Given the description of an element on the screen output the (x, y) to click on. 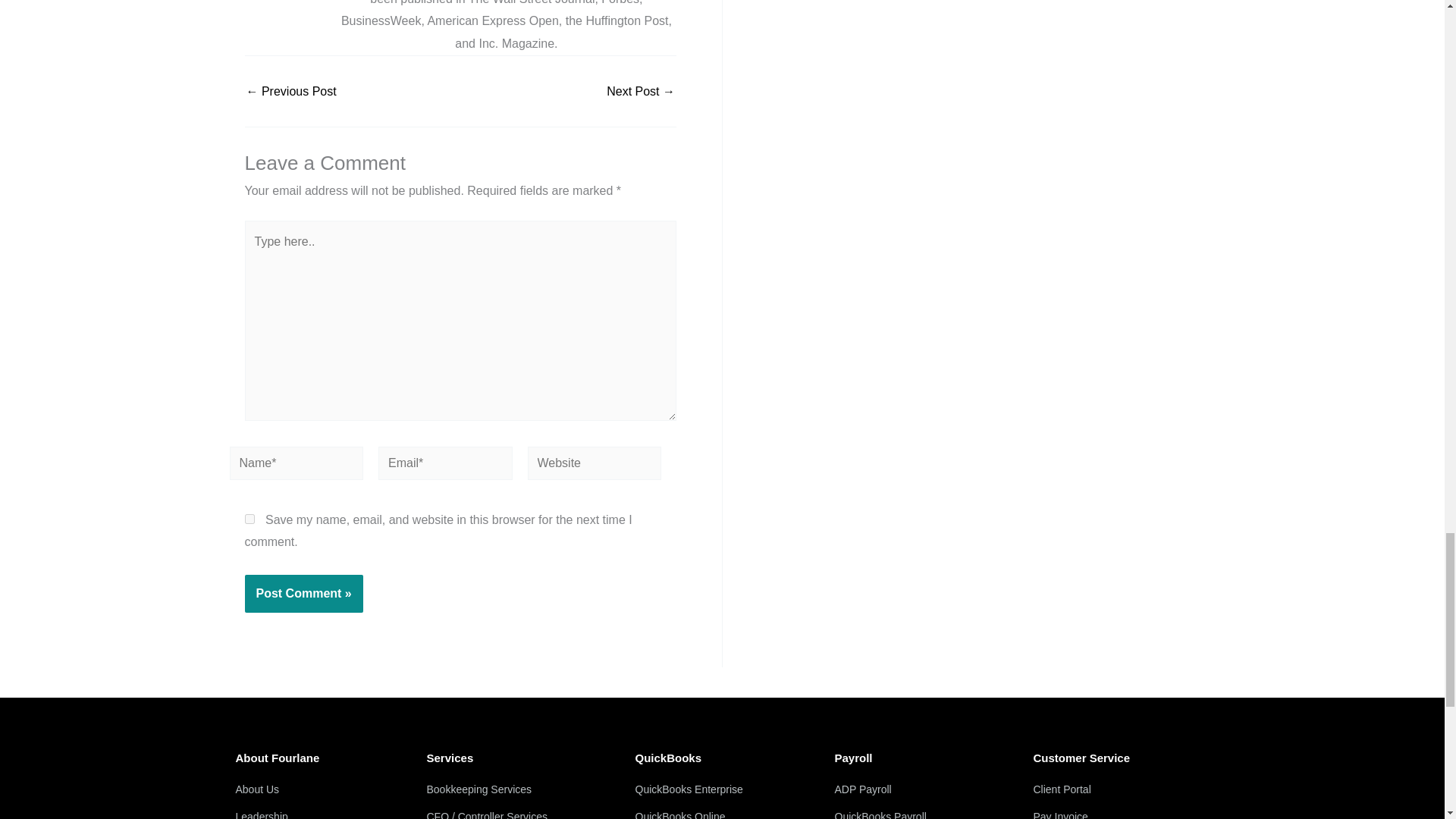
yes (248, 519)
QuickBooks Insights - 50 Percent Up Front (291, 91)
